Given the description of an element on the screen output the (x, y) to click on. 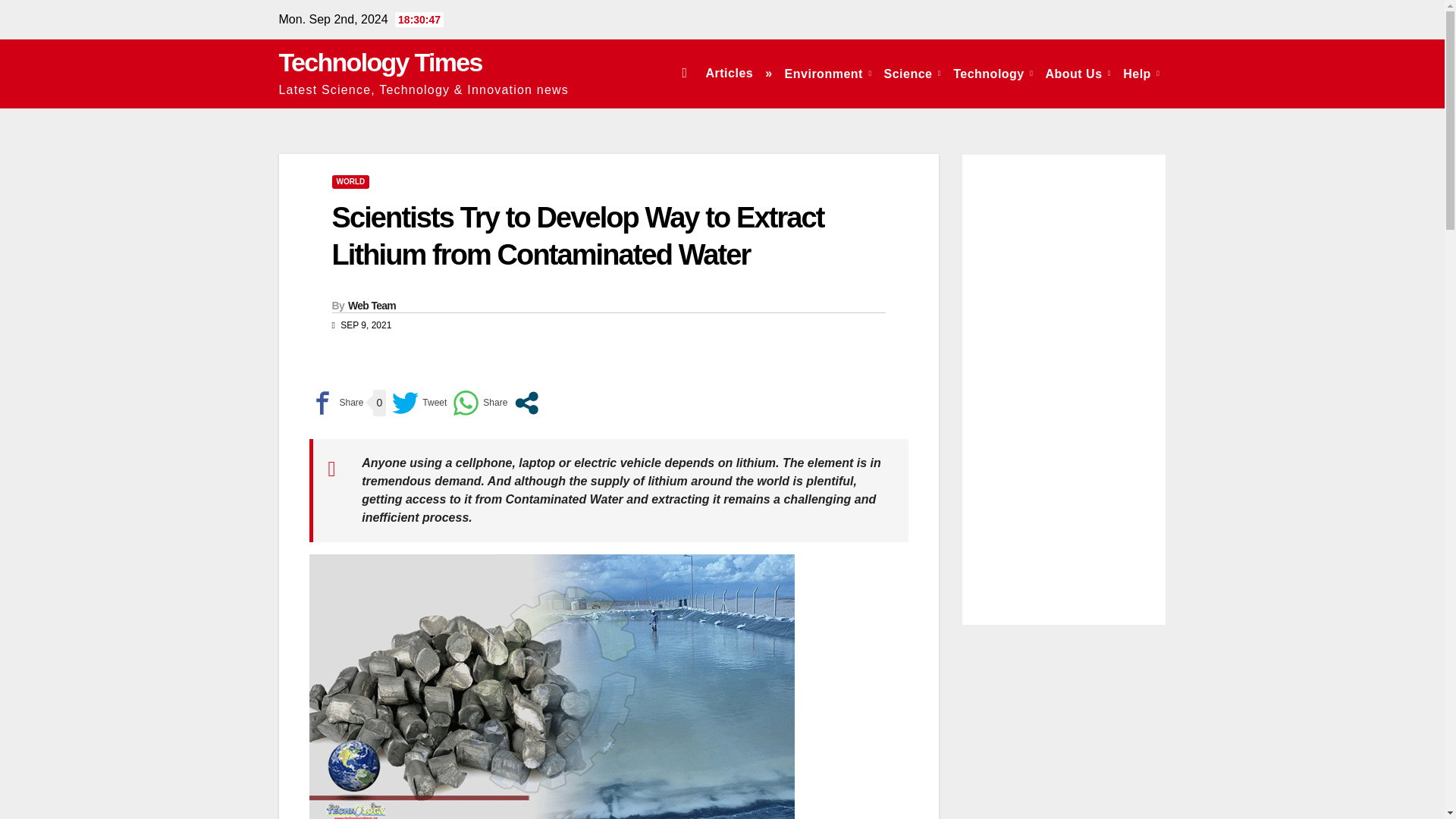
Environment (827, 73)
Technology (993, 73)
Environment (827, 73)
Science (912, 73)
Technology Times (380, 61)
Science (912, 73)
Technology (993, 73)
About Us (1077, 73)
